Given the description of an element on the screen output the (x, y) to click on. 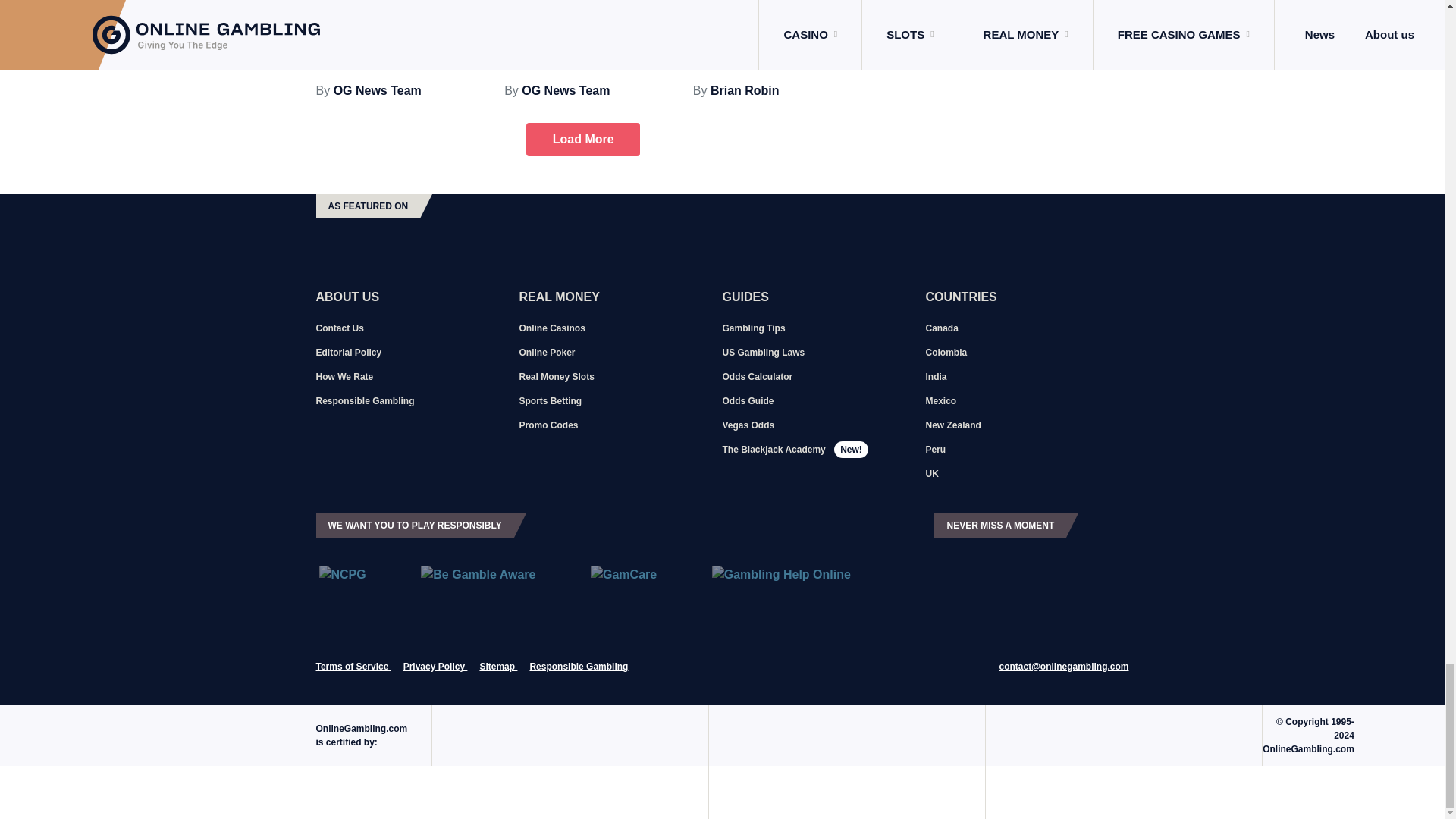
Sports Betting (446, 5)
Horse Racing (808, 5)
Sports Betting (634, 5)
